Given the description of an element on the screen output the (x, y) to click on. 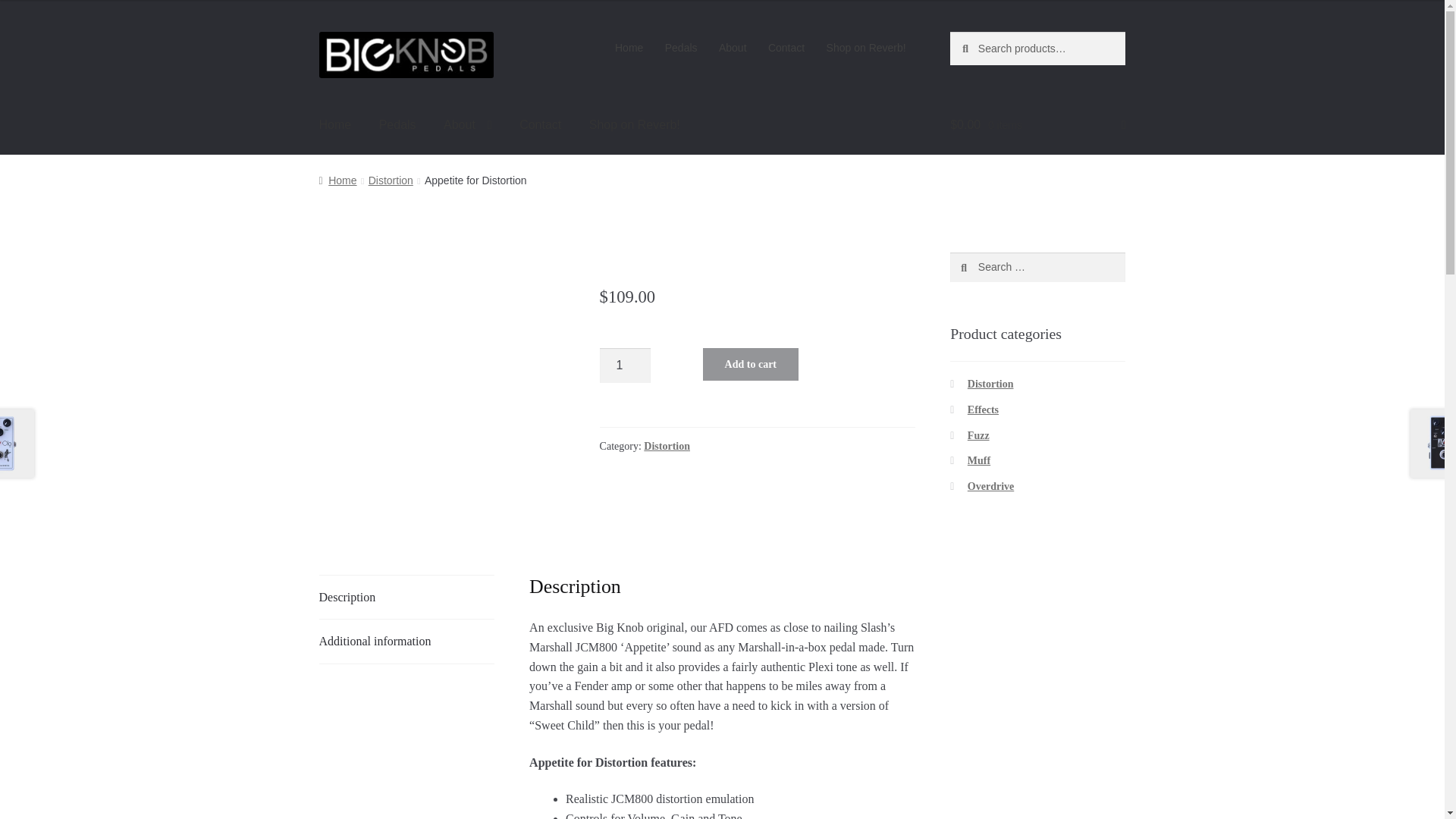
Contact (785, 47)
Distortion (666, 446)
Home (628, 47)
Description (406, 597)
Home (335, 124)
About (732, 47)
1 (624, 365)
Distortion (390, 180)
View your shopping cart (1037, 124)
